Given the description of an element on the screen output the (x, y) to click on. 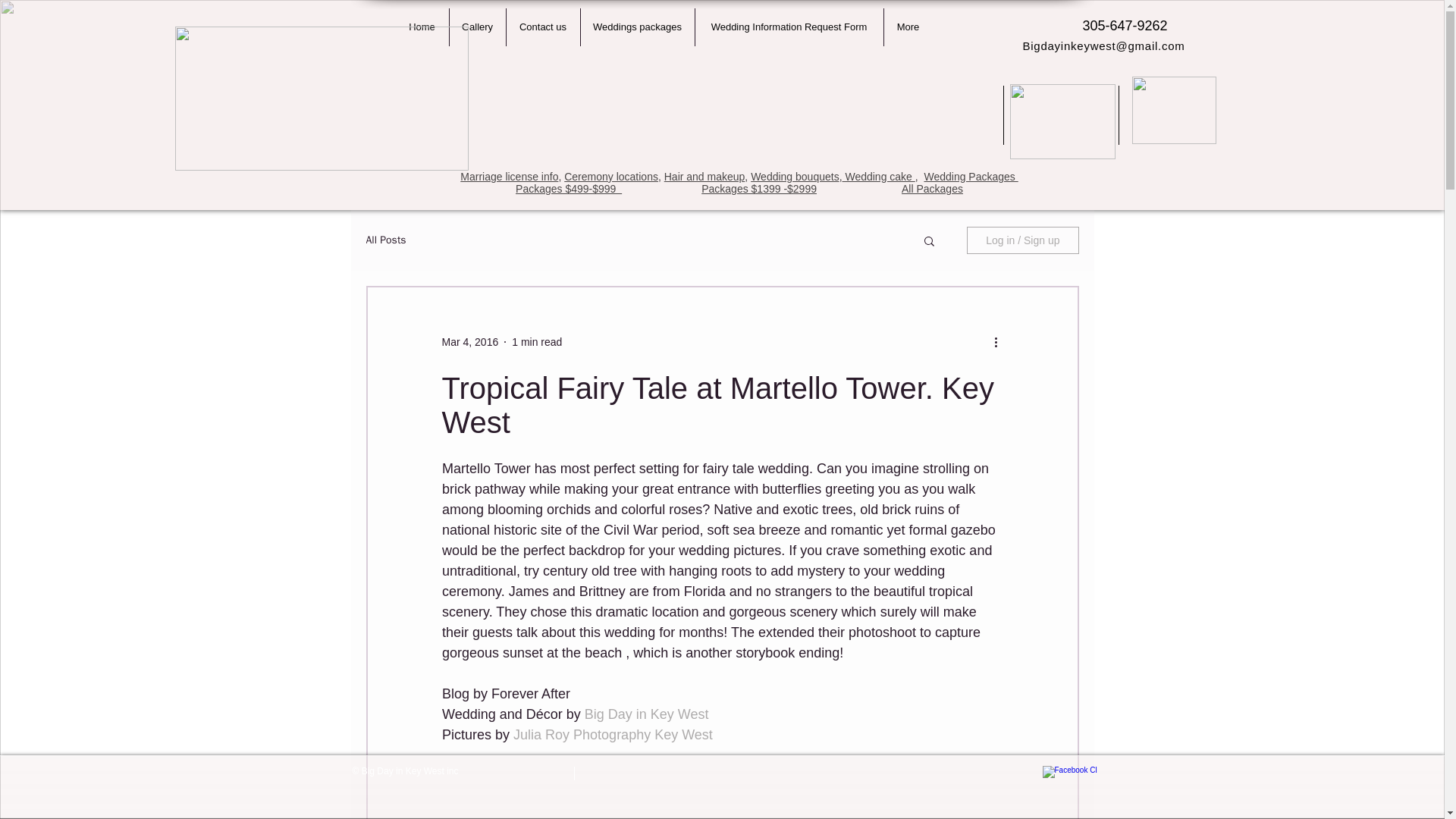
All Posts (385, 240)
Wedding Packages  (970, 176)
Big Day in Key West (645, 713)
Wedding bouquets (795, 176)
Wedding Information Request Form (788, 26)
Marriage license info (508, 176)
Ceremony locations (611, 176)
Gallery (476, 26)
1 min read (537, 340)
Julia Roy Photography Key West  (614, 734)
